Given the description of an element on the screen output the (x, y) to click on. 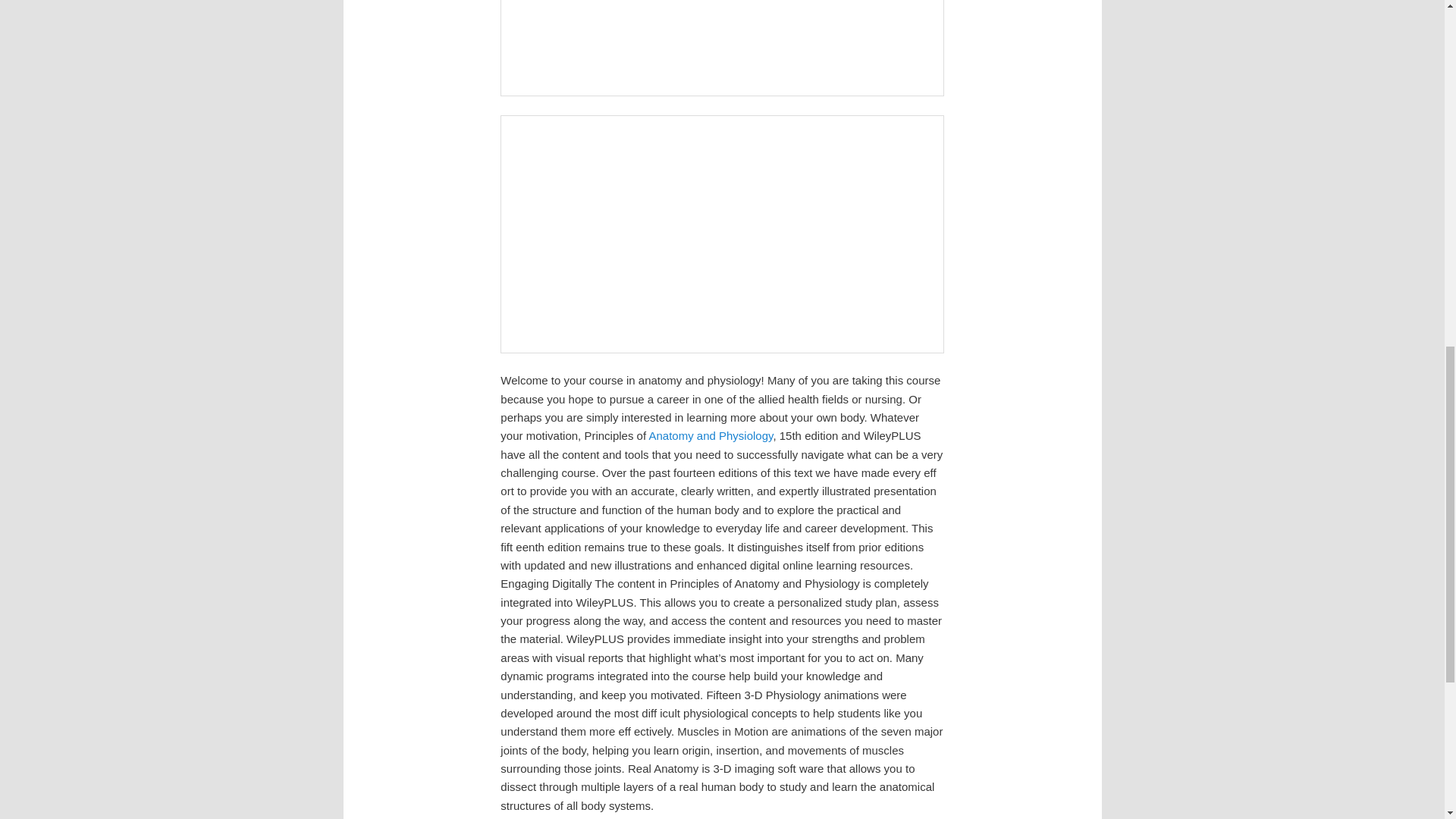
Anatomy and Physiology (710, 435)
